Given the description of an element on the screen output the (x, y) to click on. 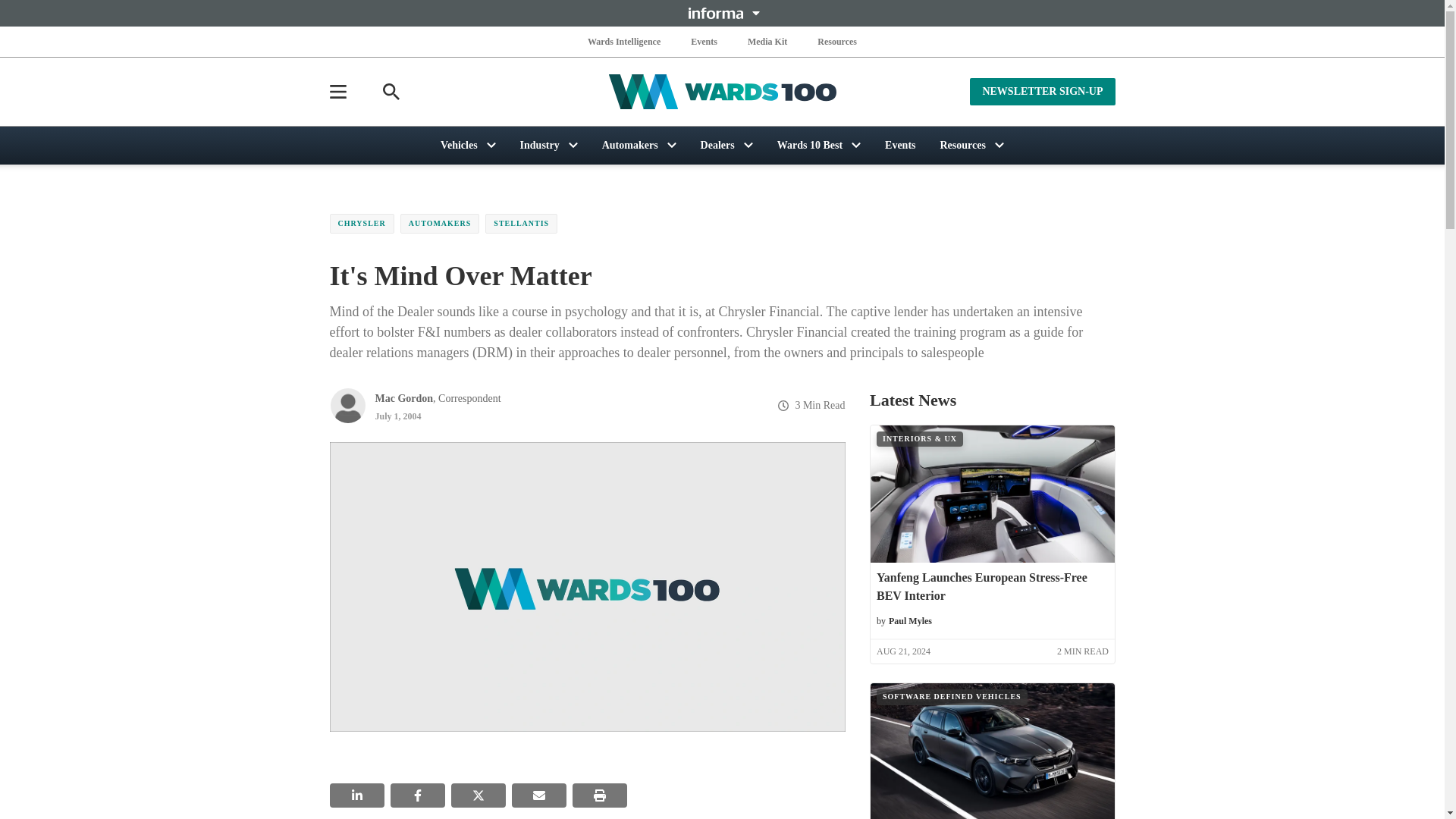
Picture of Mac Gordon (347, 405)
Wards Auto 100 Logo (721, 91)
Media Kit (767, 41)
NEWSLETTER SIGN-UP (1042, 90)
Wards Intelligence (624, 41)
Events (703, 41)
Resources (836, 41)
